Given the description of an element on the screen output the (x, y) to click on. 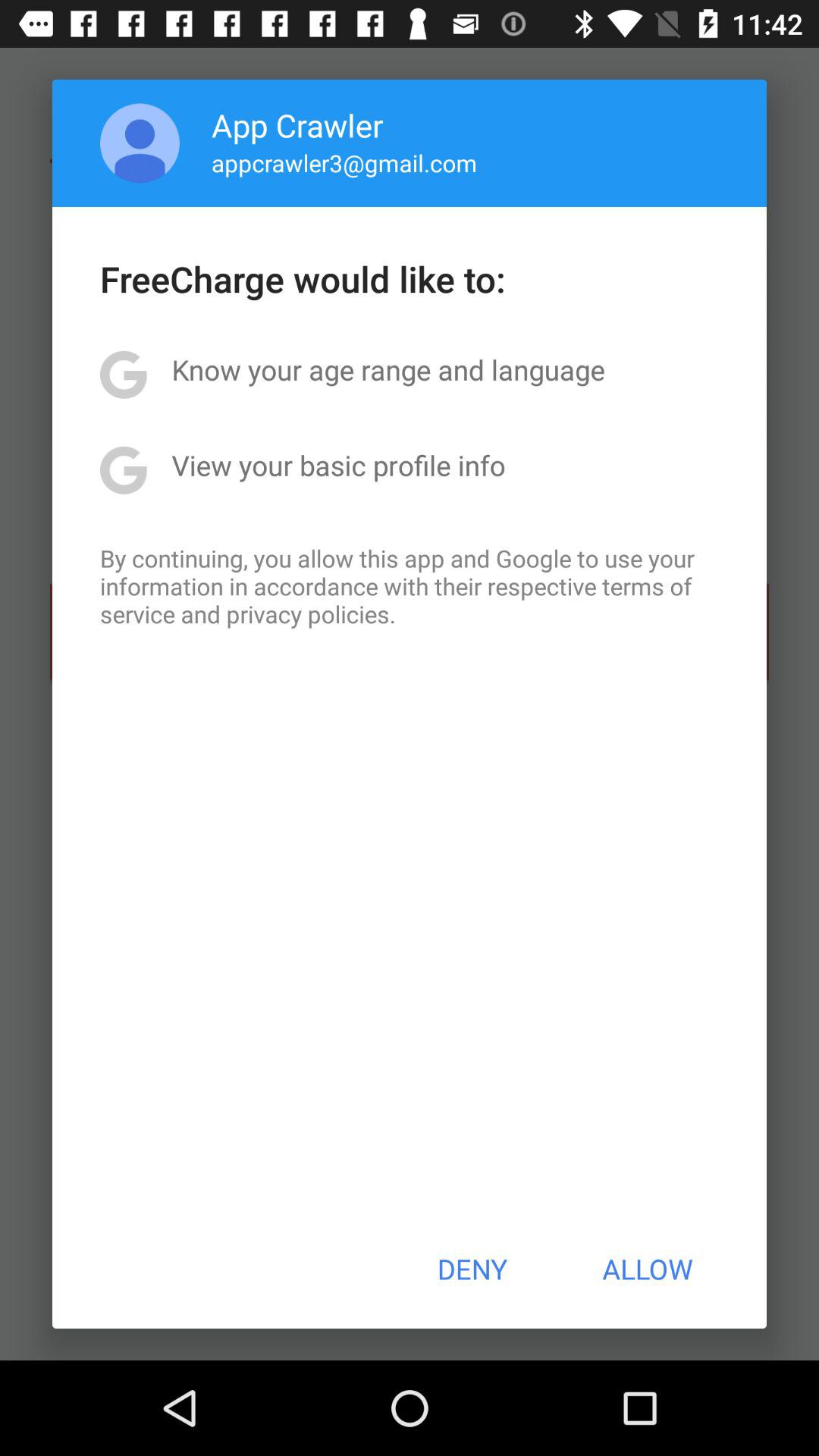
click the app below the app crawler item (344, 162)
